Given the description of an element on the screen output the (x, y) to click on. 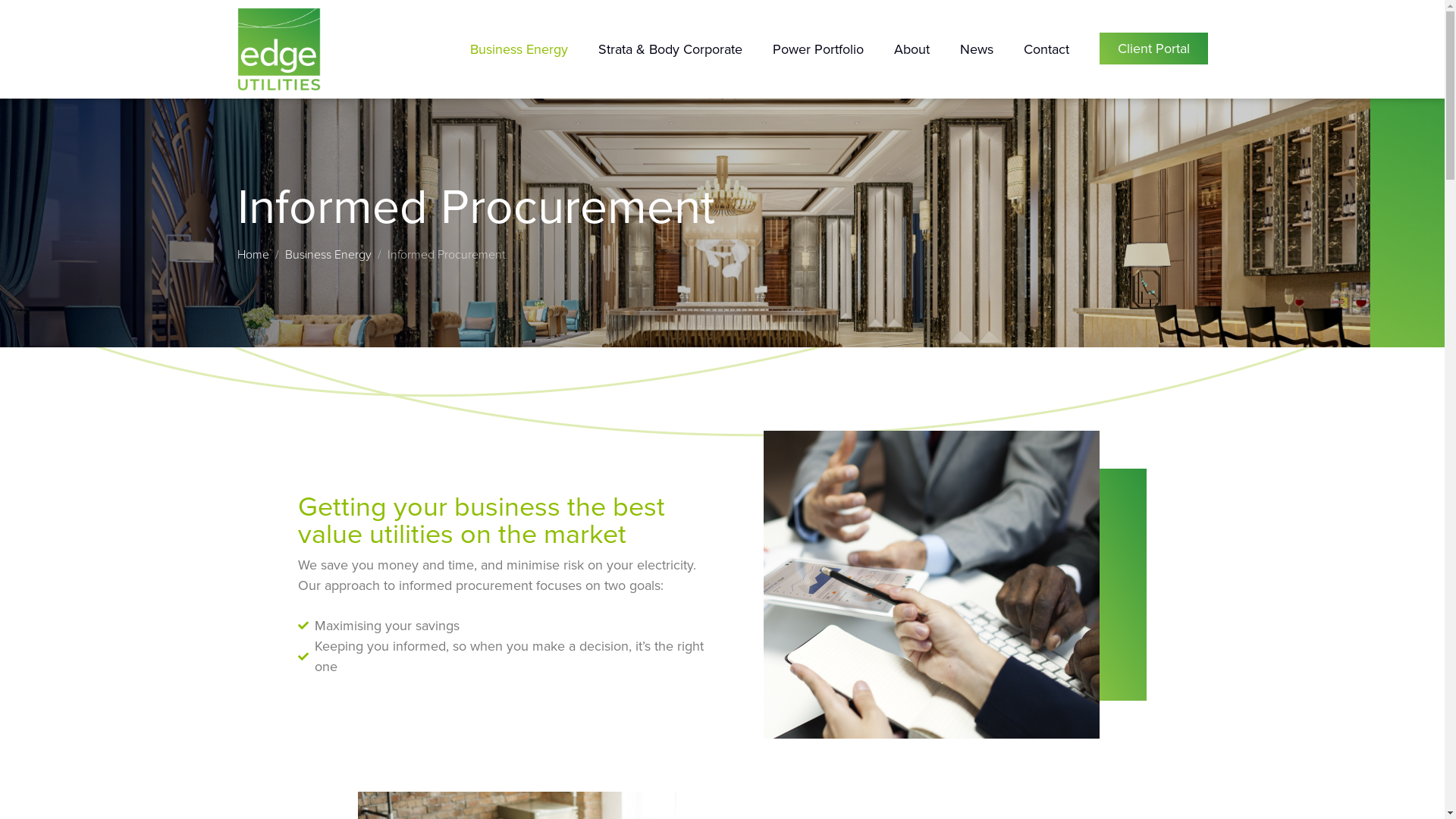
Home Element type: text (252, 254)
Client Portal Element type: text (1153, 48)
Power Portfolio Element type: text (817, 48)
News Element type: text (976, 48)
Strata & Body Corporate Element type: text (669, 48)
Business Energy Element type: text (328, 254)
Contact Element type: text (1046, 48)
Business Energy Element type: text (519, 48)
About Element type: text (911, 48)
